Given the description of an element on the screen output the (x, y) to click on. 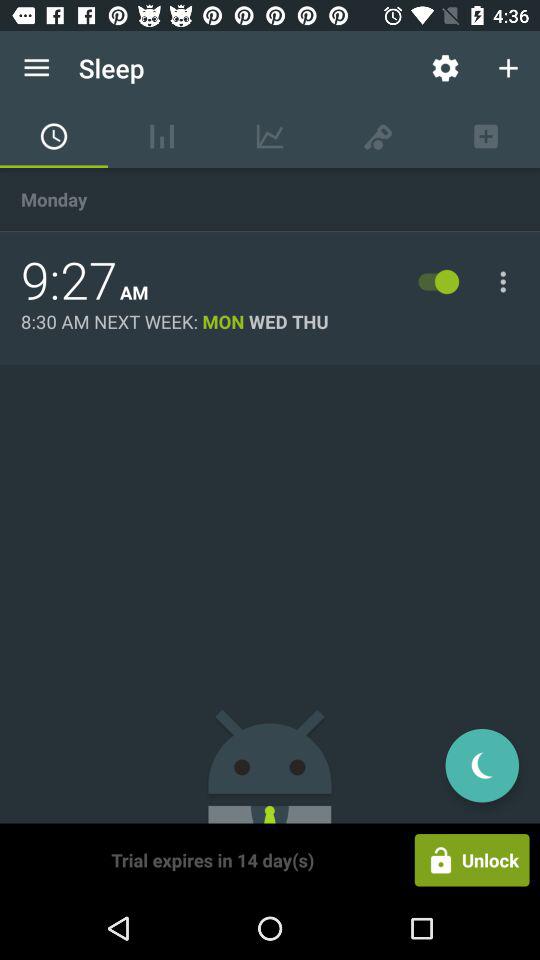
select item above the 8 30 am (69, 281)
